Given the description of an element on the screen output the (x, y) to click on. 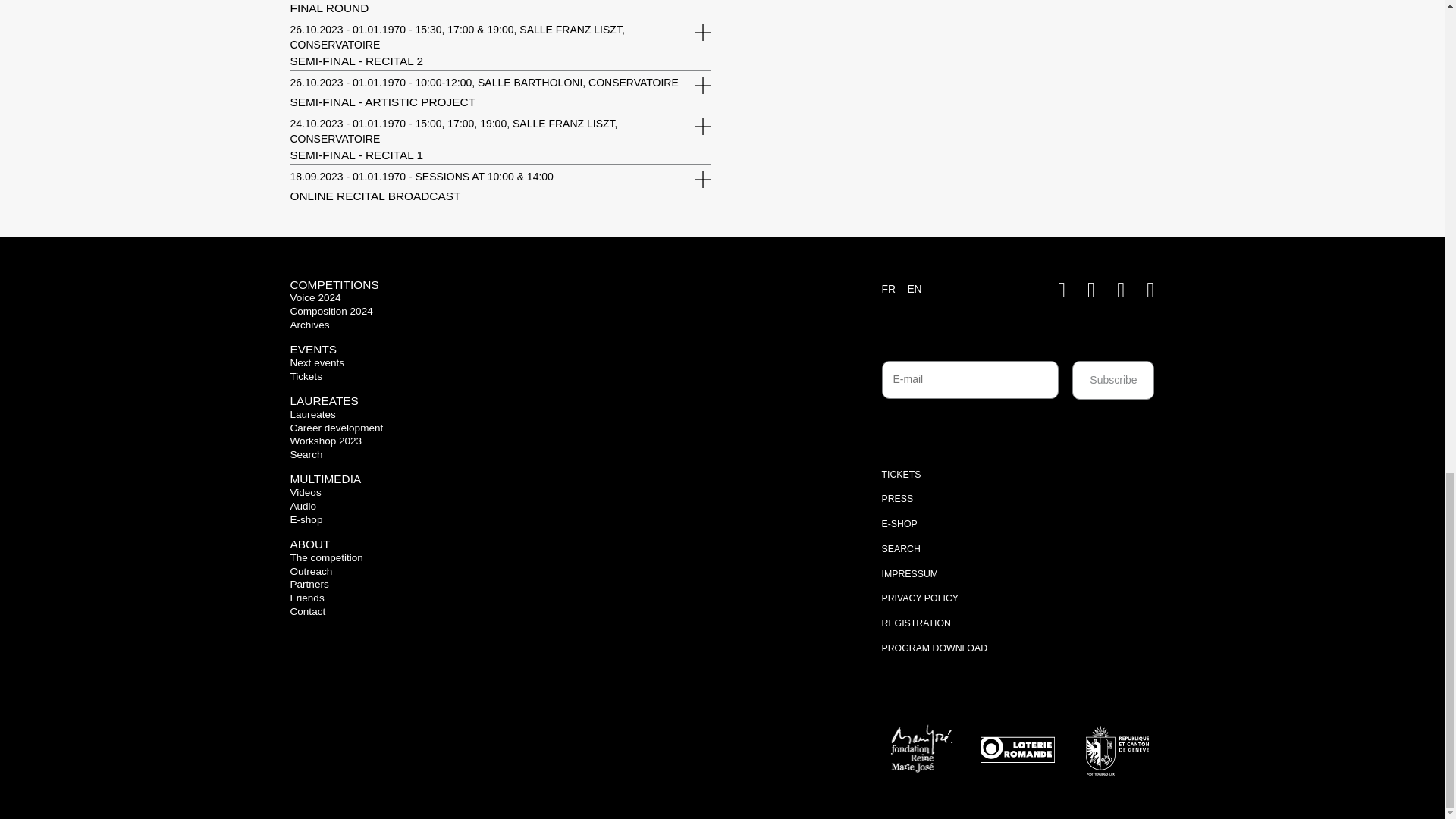
Subscribe (1112, 380)
